Given the description of an element on the screen output the (x, y) to click on. 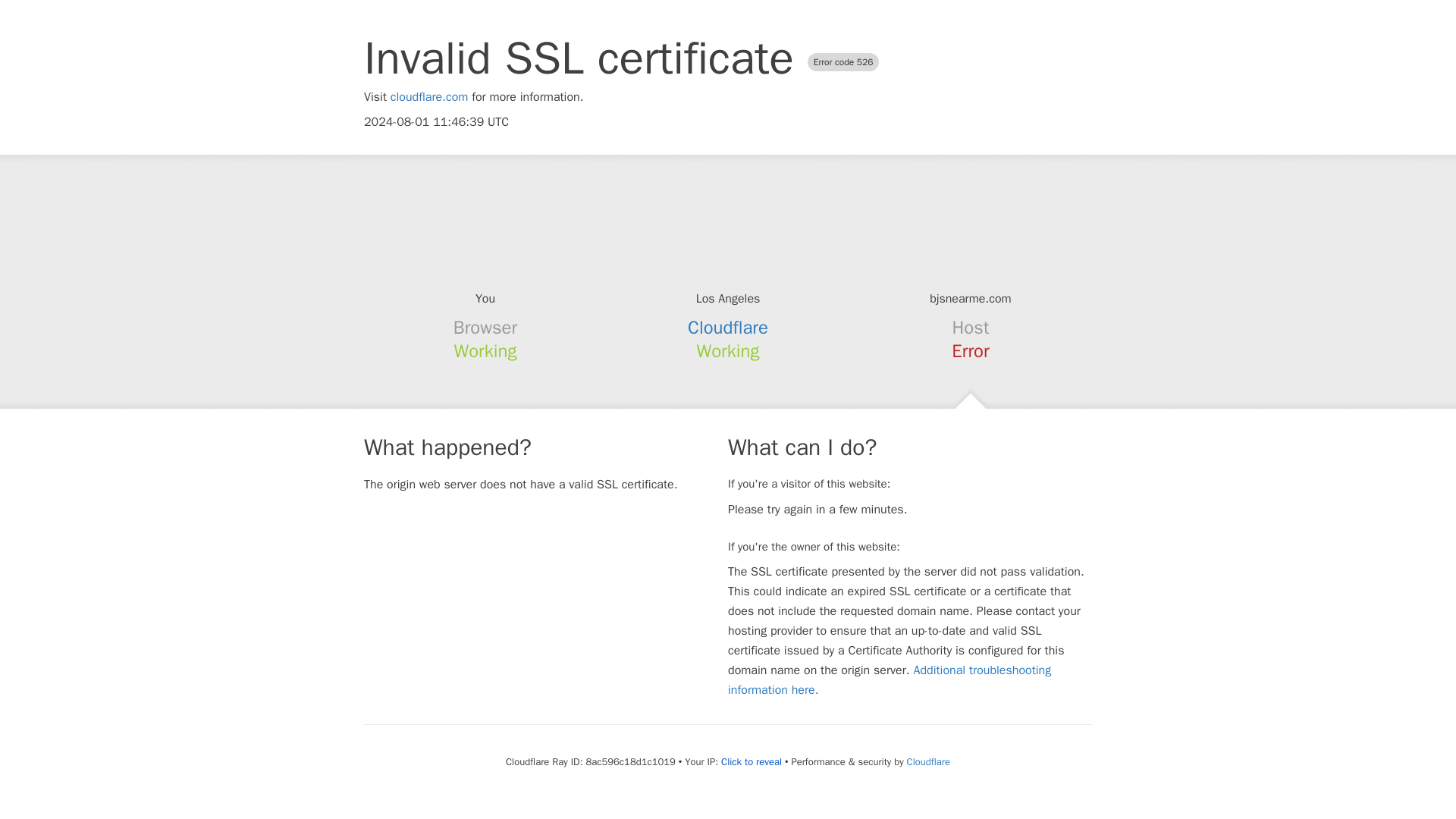
Additional troubleshooting information here. (889, 679)
Click to reveal (750, 762)
Cloudflare (727, 327)
cloudflare.com (429, 96)
Cloudflare (928, 761)
